Given the description of an element on the screen output the (x, y) to click on. 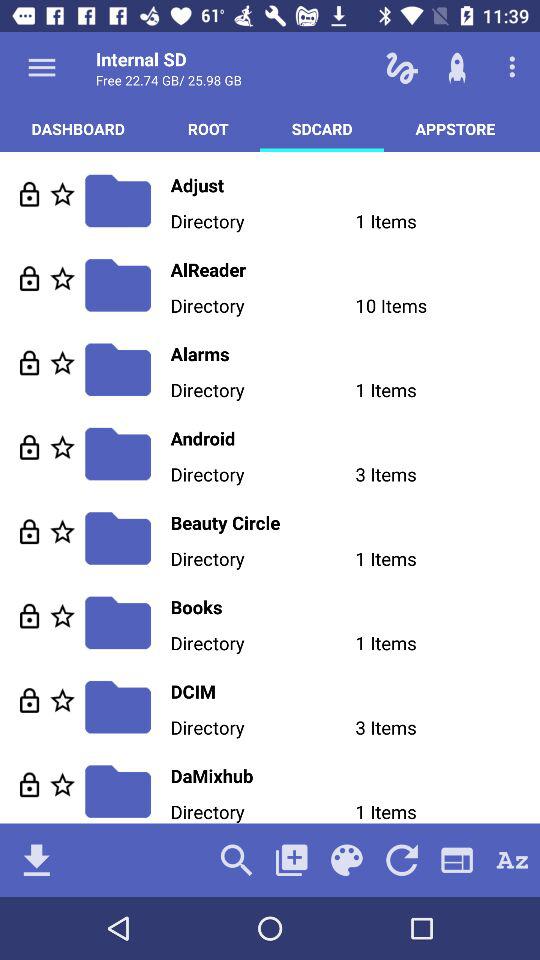
unlock (29, 700)
